Given the description of an element on the screen output the (x, y) to click on. 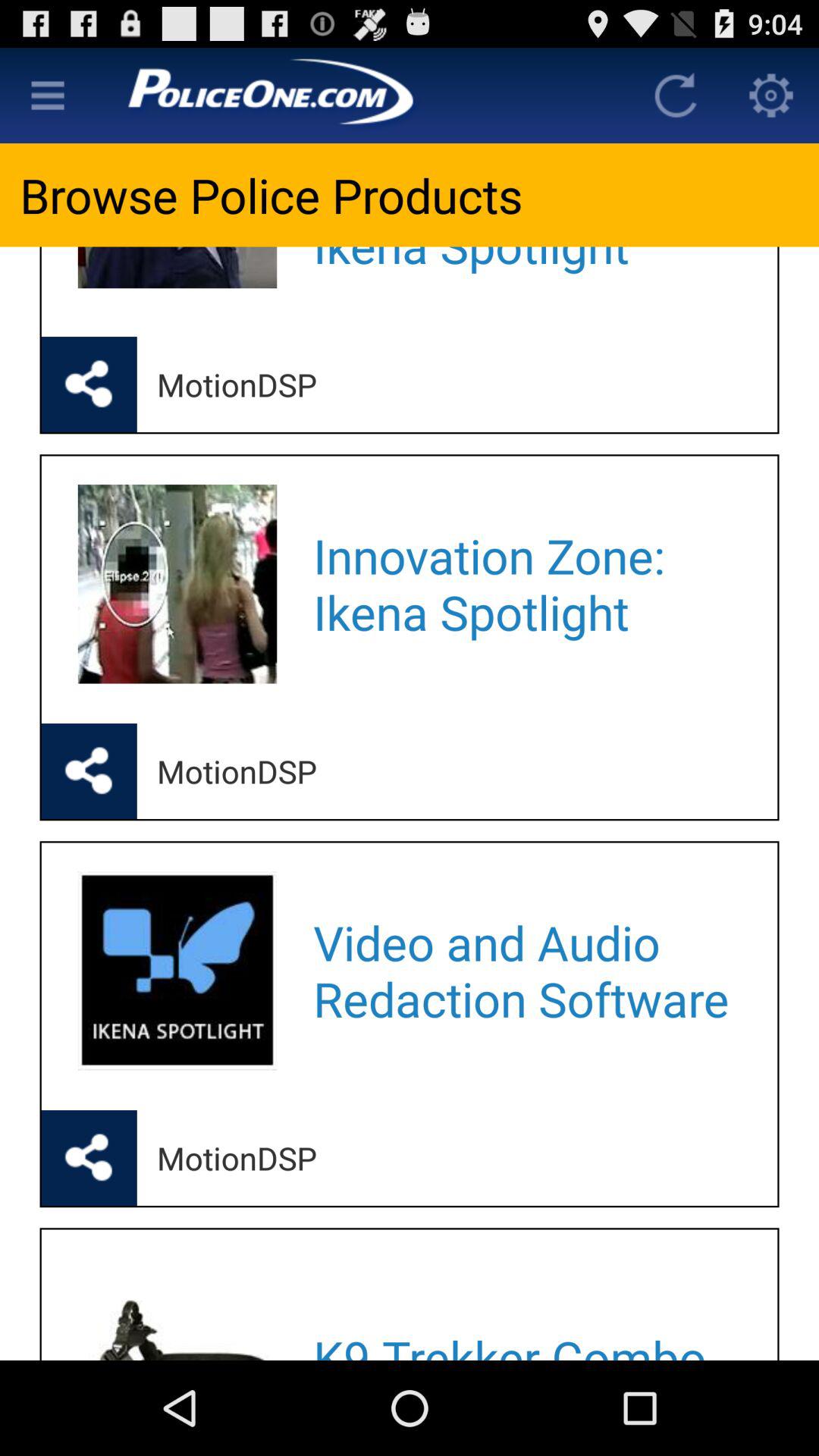
open settings meu (771, 95)
